Given the description of an element on the screen output the (x, y) to click on. 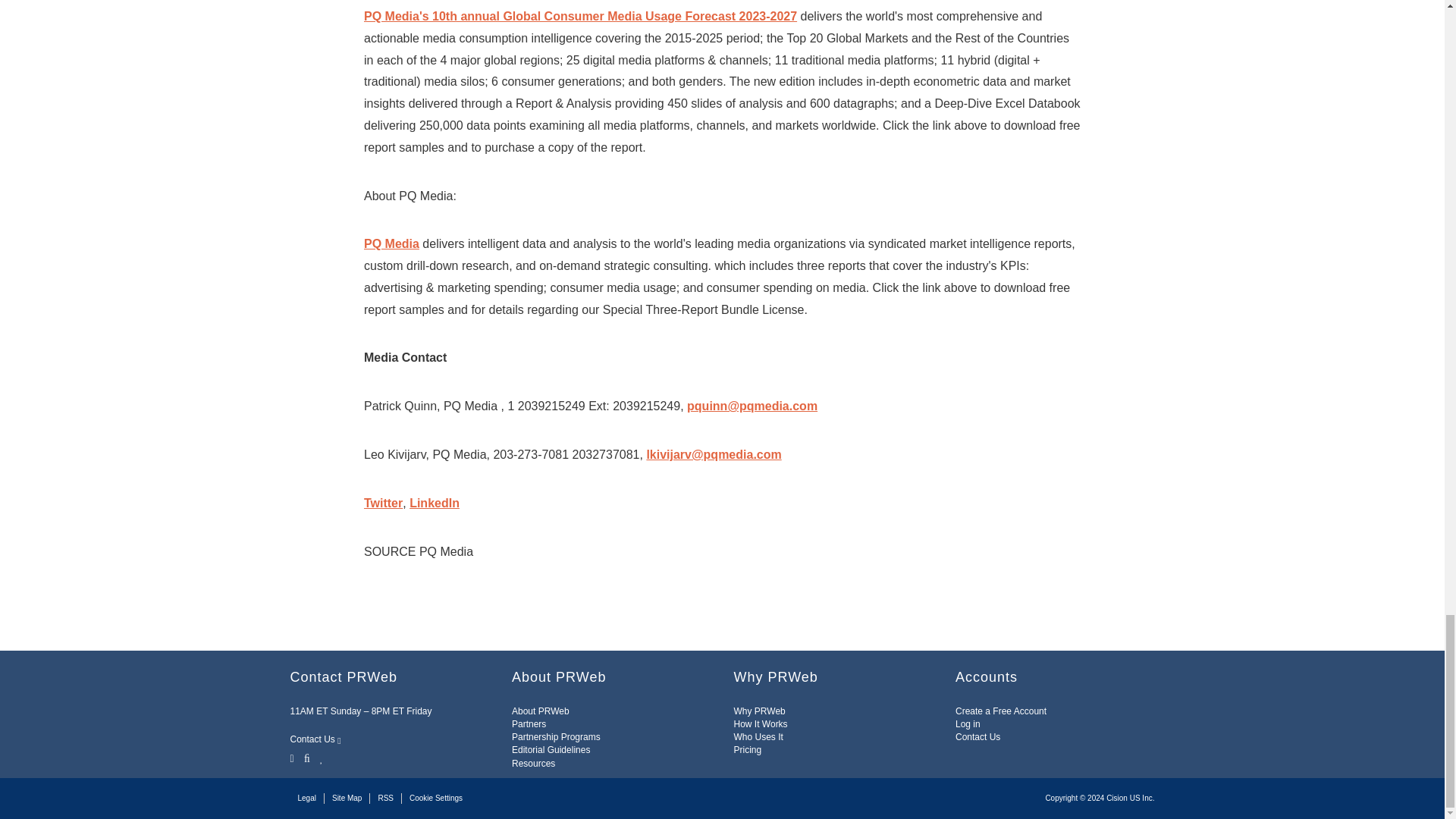
Why PRWeb (759, 710)
Facebook (306, 757)
Partnership Programs (555, 737)
LinkedIn (321, 757)
How It Works (760, 724)
Editorial Guidelines (550, 749)
About PRWeb (540, 710)
Twitter (293, 757)
Partners (529, 724)
Resources (533, 763)
